Given the description of an element on the screen output the (x, y) to click on. 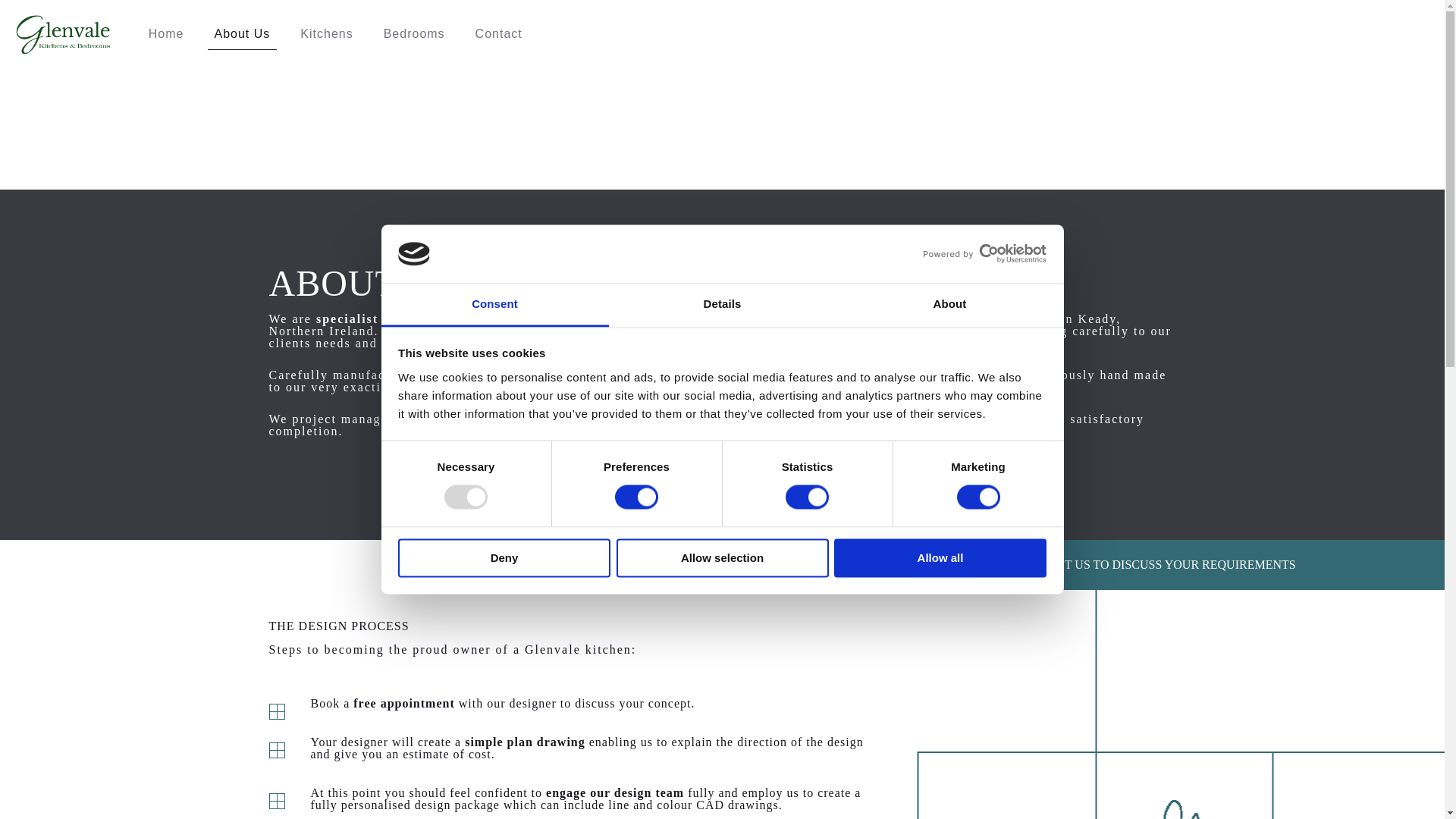
Allow all (940, 557)
Consent (494, 304)
Home (166, 33)
Glenvale Kitchens (62, 33)
Deny (503, 557)
Kitchens (326, 33)
Details (721, 304)
About Us (241, 33)
About (948, 304)
Allow selection (721, 557)
